Given the description of an element on the screen output the (x, y) to click on. 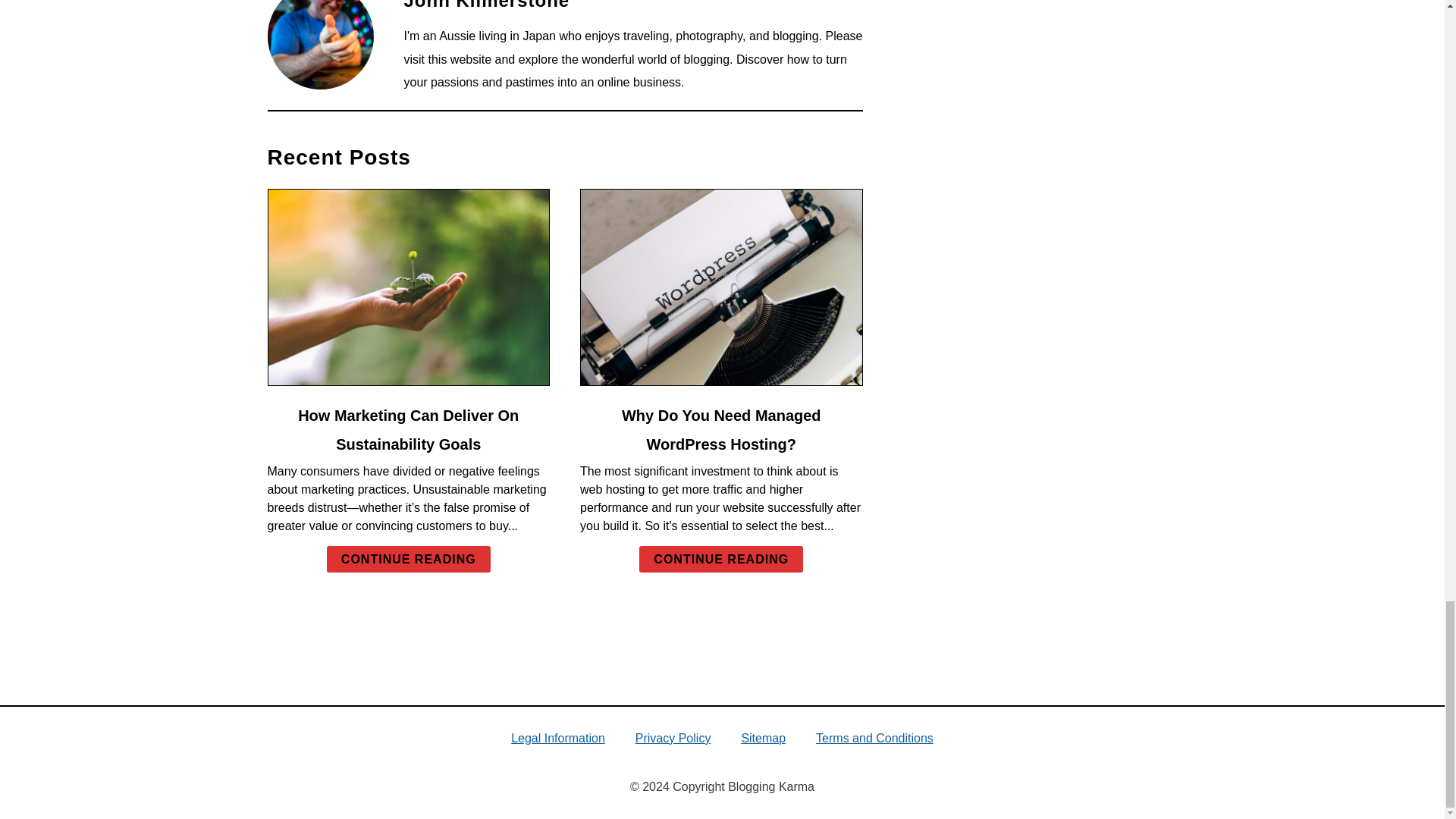
link to Why Do You Need Managed WordPress Hosting? (721, 286)
Privacy Policy (672, 737)
Sitemap (763, 737)
CONTINUE READING (721, 559)
Legal Information (558, 737)
John Kilmerstone (486, 5)
Why Do You Need Managed WordPress Hosting? (721, 429)
Terms and Conditions (874, 737)
How Marketing Can Deliver On Sustainability Goals (408, 429)
link to How Marketing Can Deliver On Sustainability Goals (408, 286)
CONTINUE READING (408, 559)
